Given the description of an element on the screen output the (x, y) to click on. 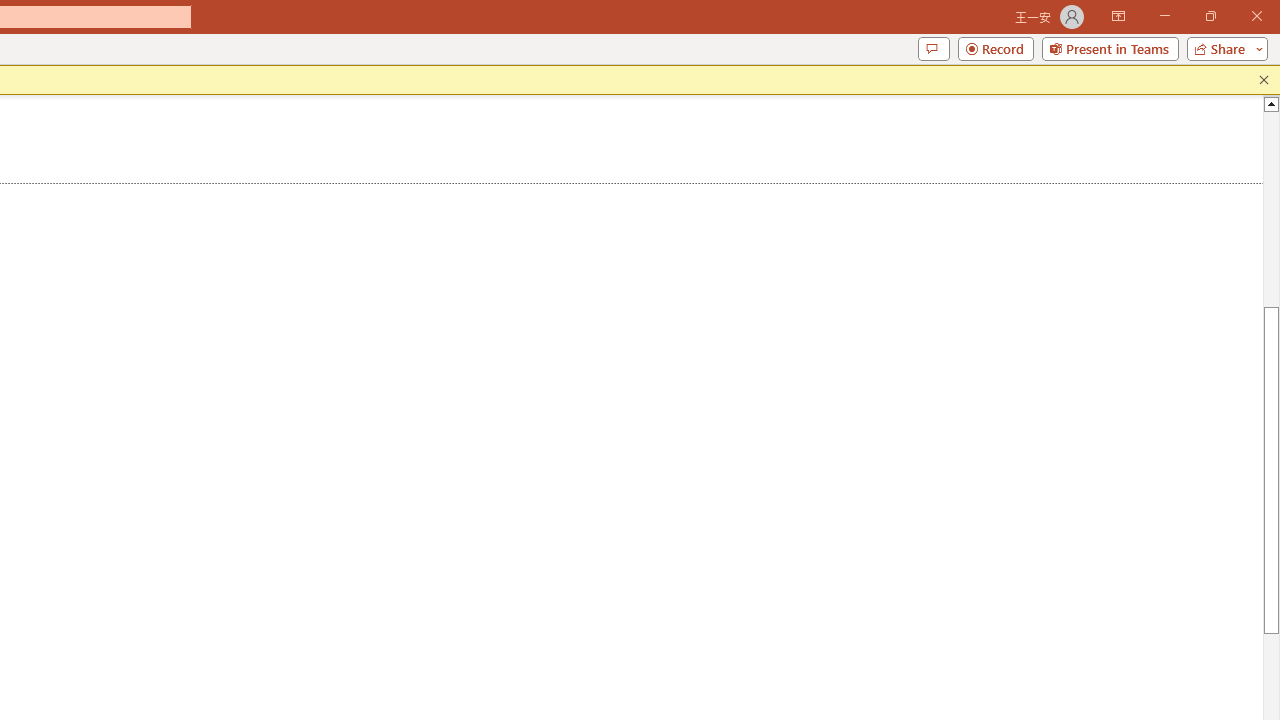
Select (618, 196)
Special: (98, 583)
Styles... (538, 226)
Styles (523, 188)
